Given the description of an element on the screen output the (x, y) to click on. 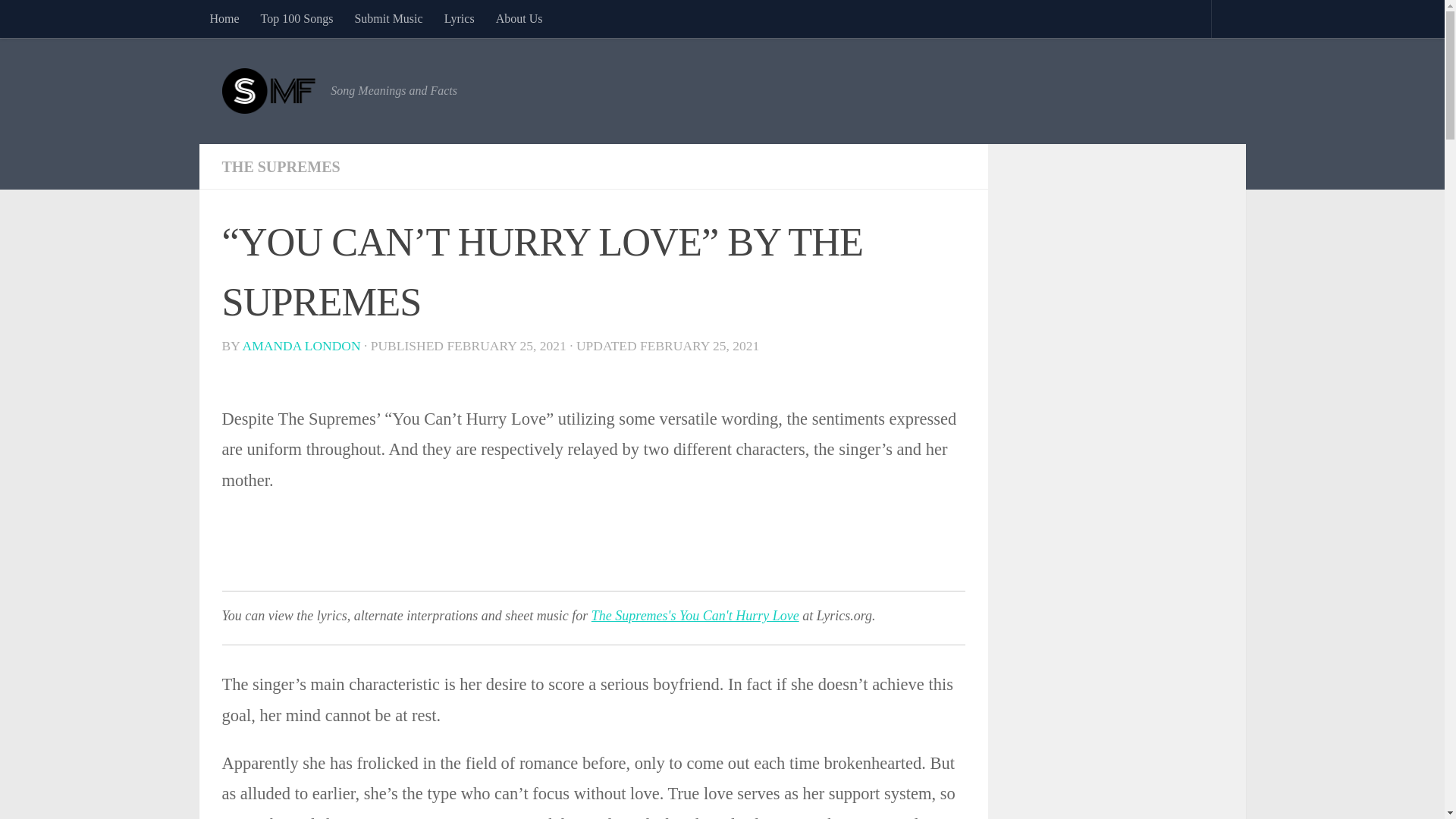
Home (223, 18)
Posts by Amanda London (302, 345)
Skip to content (59, 20)
About Us (518, 18)
Lyrics (458, 18)
The Supremes's You Can't Hurry Love (695, 615)
Submit Music (387, 18)
Top 100 Songs (296, 18)
AMANDA LONDON (302, 345)
THE SUPREMES (280, 166)
